Given the description of an element on the screen output the (x, y) to click on. 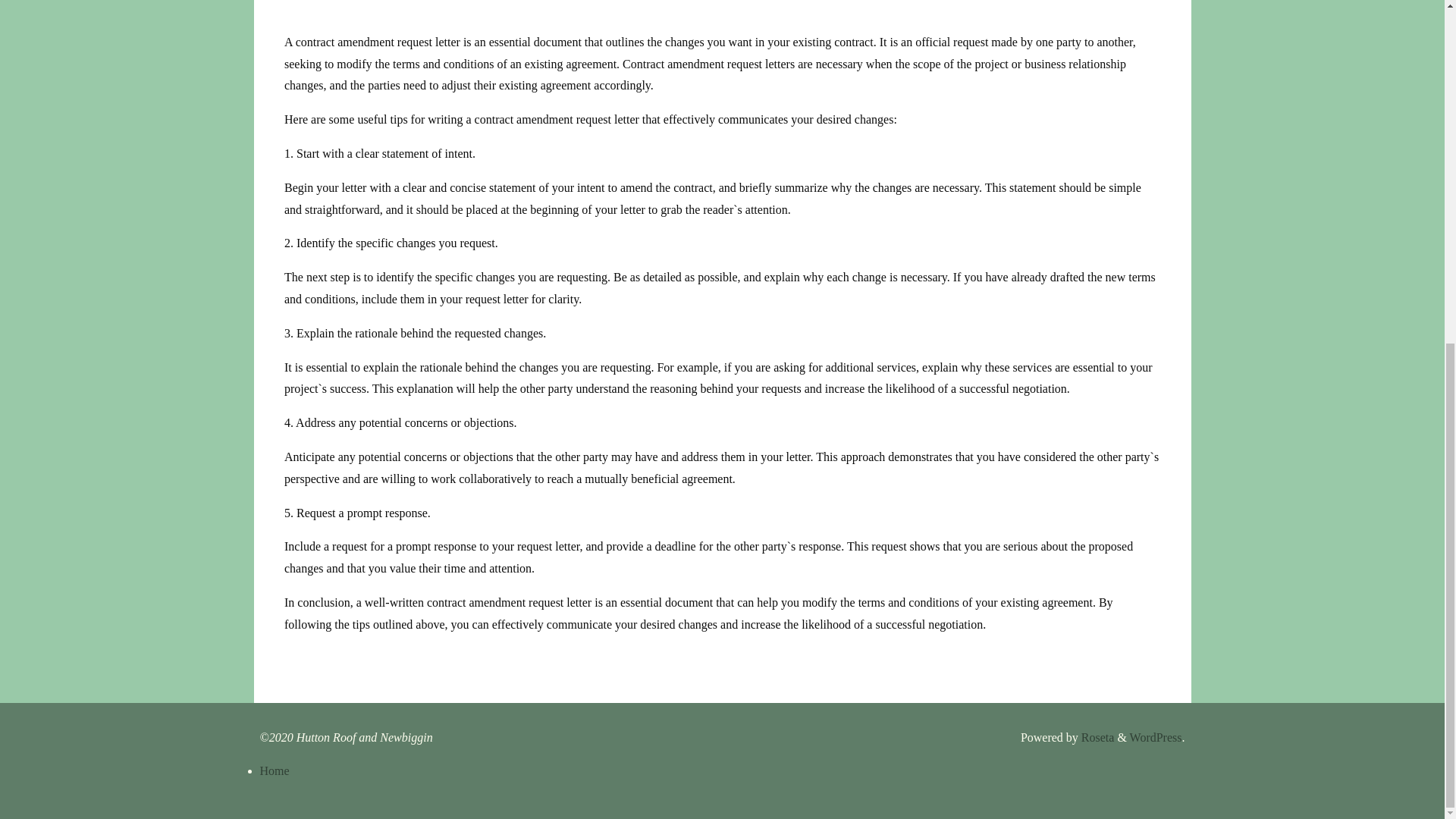
Roseta (1096, 737)
Semantic Personal Publishing Platform (1155, 737)
Home (273, 770)
Roseta WordPress Theme by Cryout Creations (1096, 737)
WordPress (1155, 737)
